Given the description of an element on the screen output the (x, y) to click on. 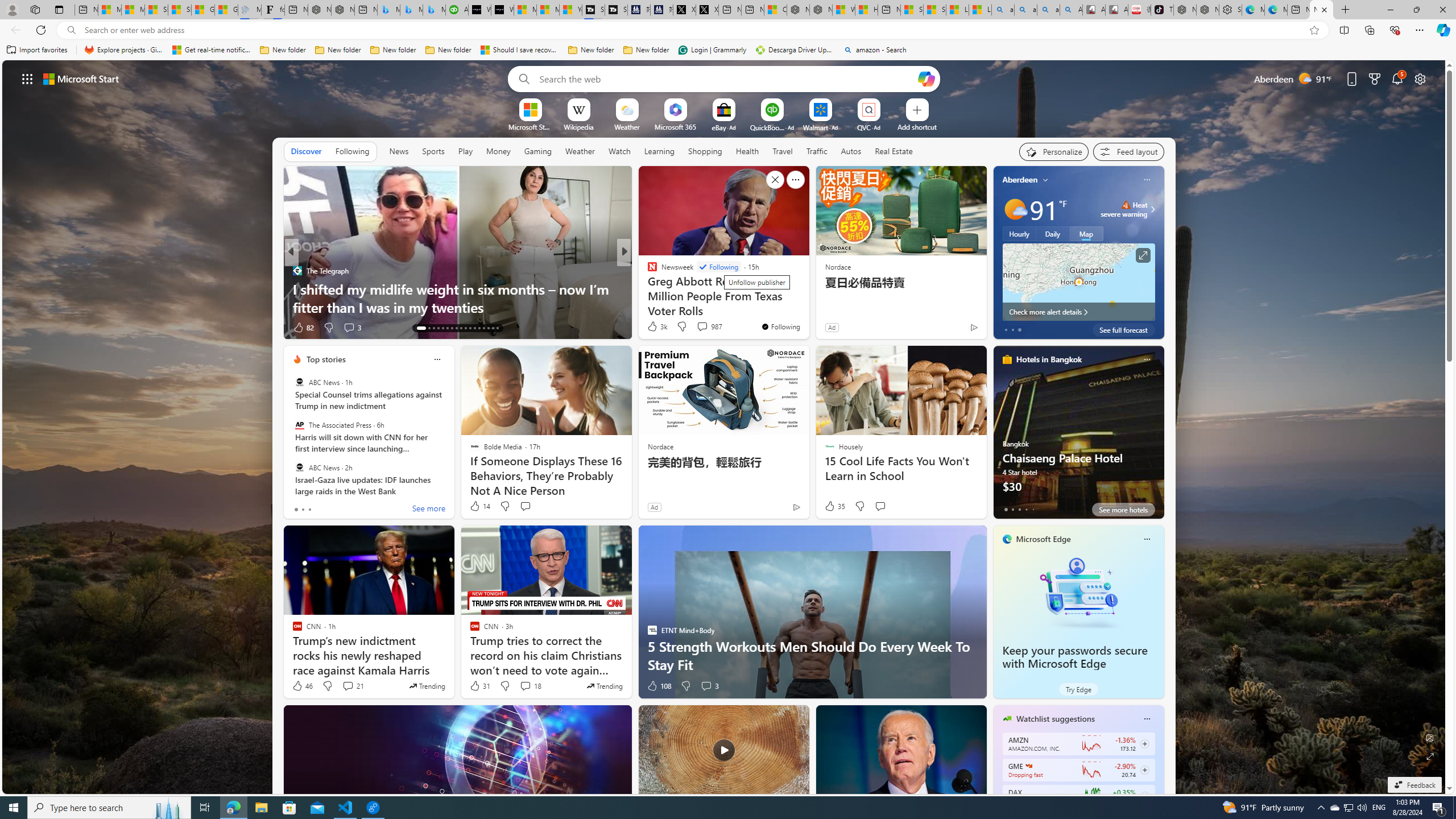
158 Like (654, 327)
View comments 2 Comment (702, 327)
Daily (1052, 233)
82 Like (303, 327)
View comments 85 Comment (698, 327)
AutomationID: tab-27 (488, 328)
View comments 251 Comment (703, 327)
108 Like (658, 685)
